Given the description of an element on the screen output the (x, y) to click on. 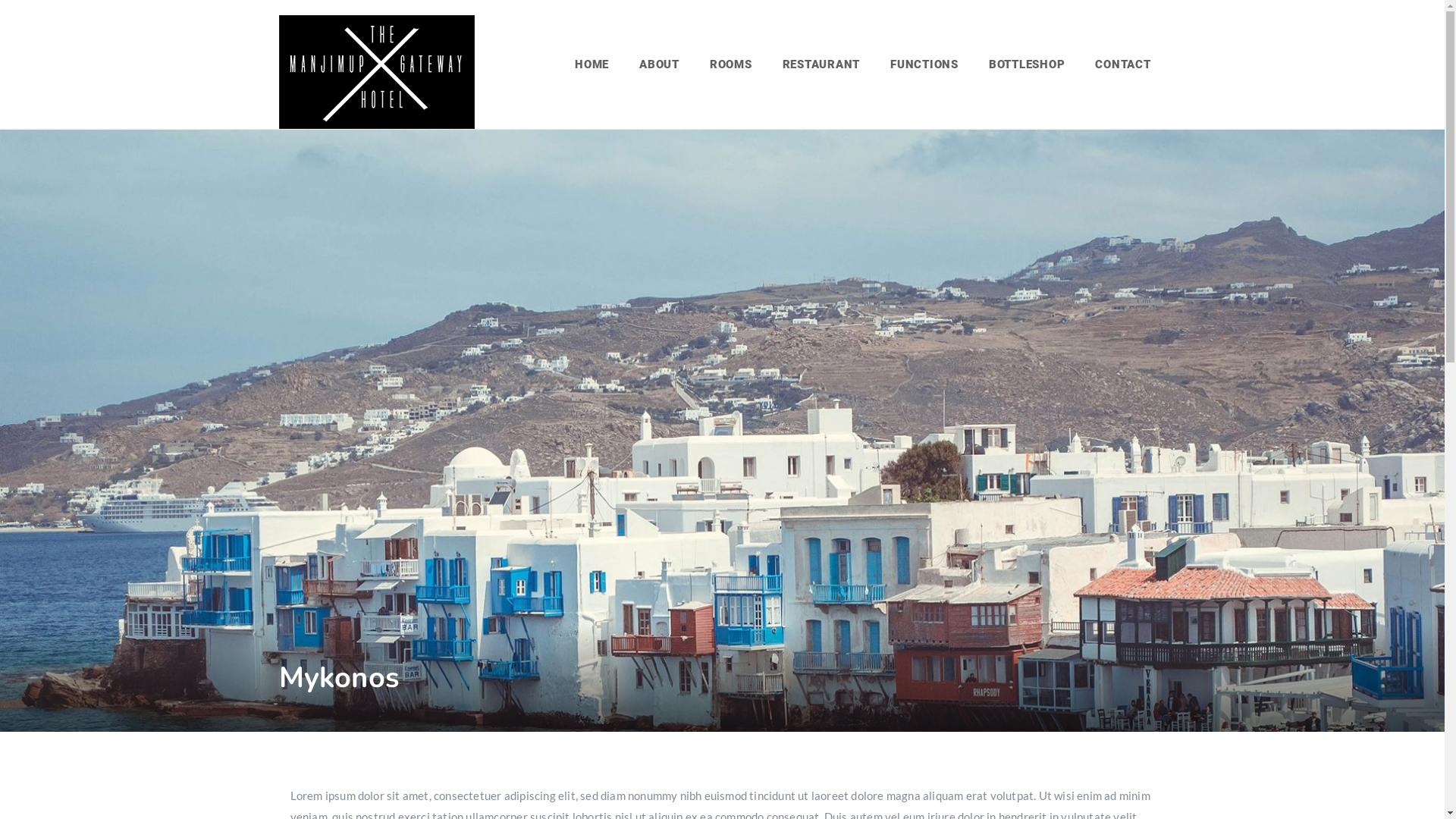
ROOMS Element type: text (730, 64)
RESTAURANT Element type: text (821, 64)
ABOUT Element type: text (659, 64)
BOTTLESHOP Element type: text (1026, 64)
FUNCTIONS Element type: text (924, 64)
CONTACT Element type: text (1122, 64)
HOME Element type: text (591, 64)
